Given the description of an element on the screen output the (x, y) to click on. 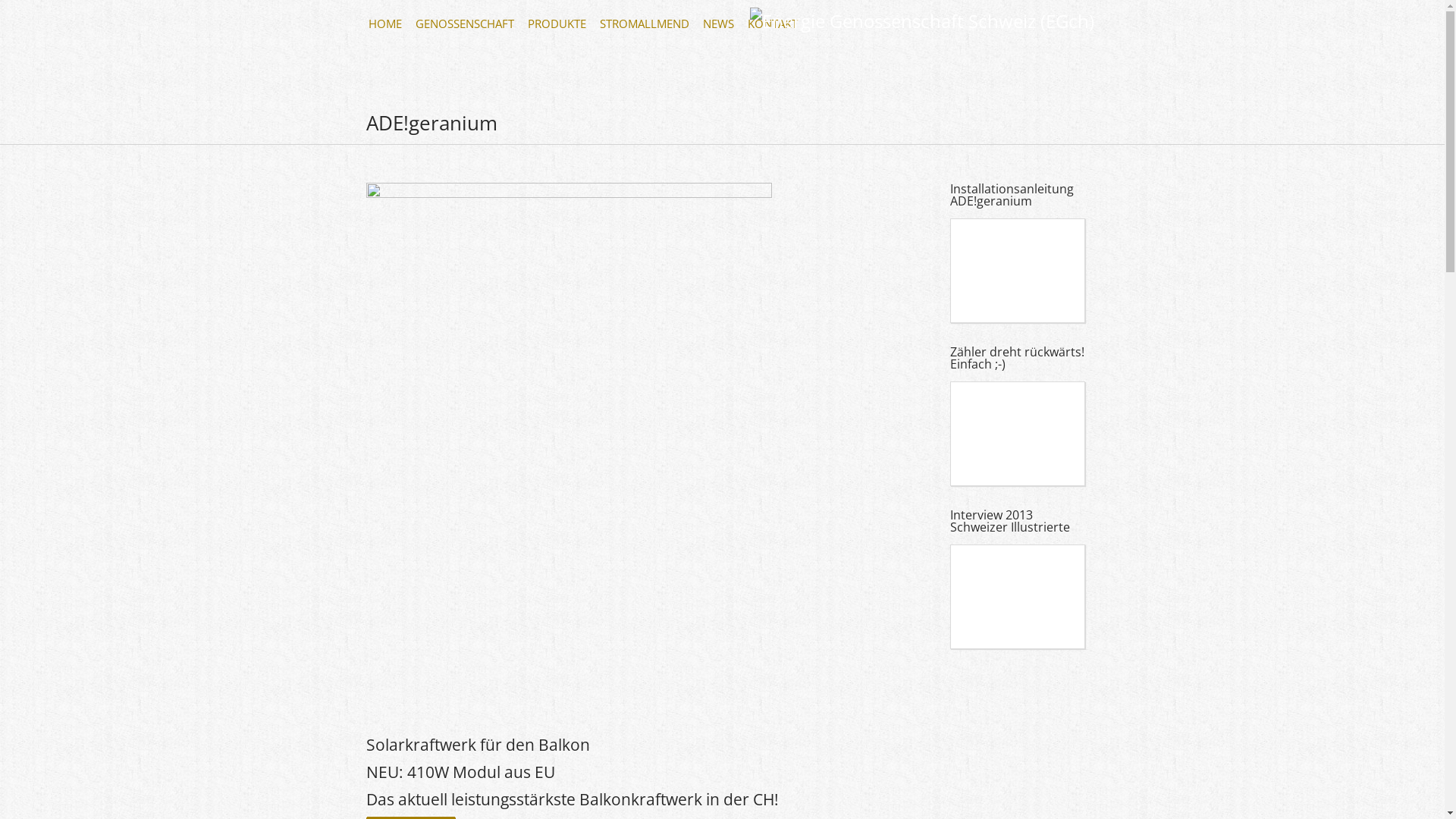
STROMALLMEND  Element type: text (645, 19)
GENOSSENSCHAFT  Element type: text (464, 19)
NEWS  Element type: text (718, 19)
YouTube video player Element type: hover (1069, 280)
YouTube video player Element type: hover (1069, 606)
HOME  Element type: text (384, 19)
YouTube video player Element type: hover (1069, 443)
Energie Genossenschaft Schweiz (EGch) Element type: hover (921, 20)
KONTAKT  Element type: text (772, 19)
PRODUKTE  Element type: text (556, 19)
